Given the description of an element on the screen output the (x, y) to click on. 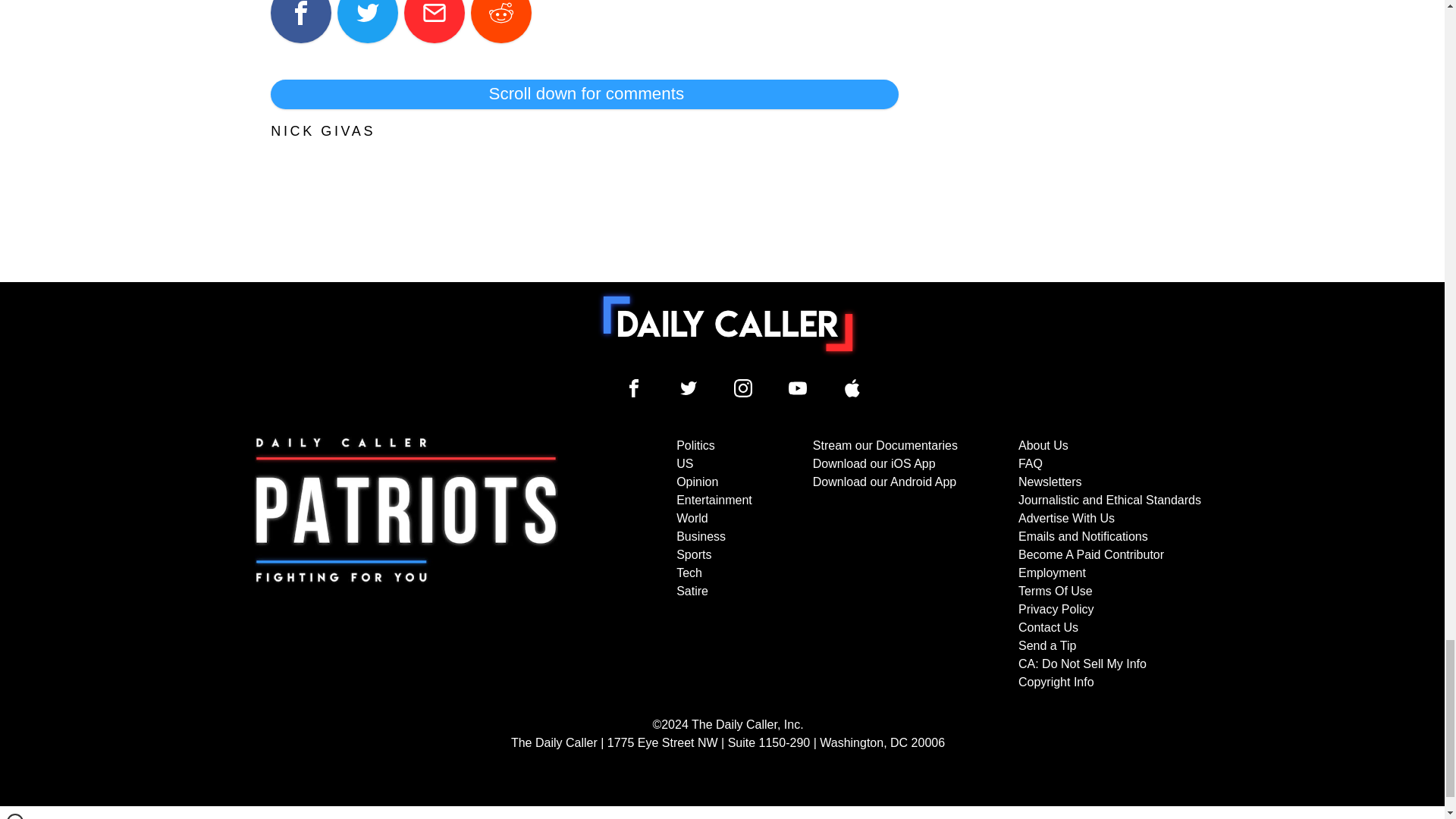
To home page (727, 323)
Daily Caller YouTube (852, 388)
Daily Caller Twitter (688, 388)
Daily Caller YouTube (797, 388)
Daily Caller Facebook (633, 388)
Scroll down for comments (584, 93)
Subscribe to The Daily Caller (405, 563)
Daily Caller Instagram (742, 388)
